Given the description of an element on the screen output the (x, y) to click on. 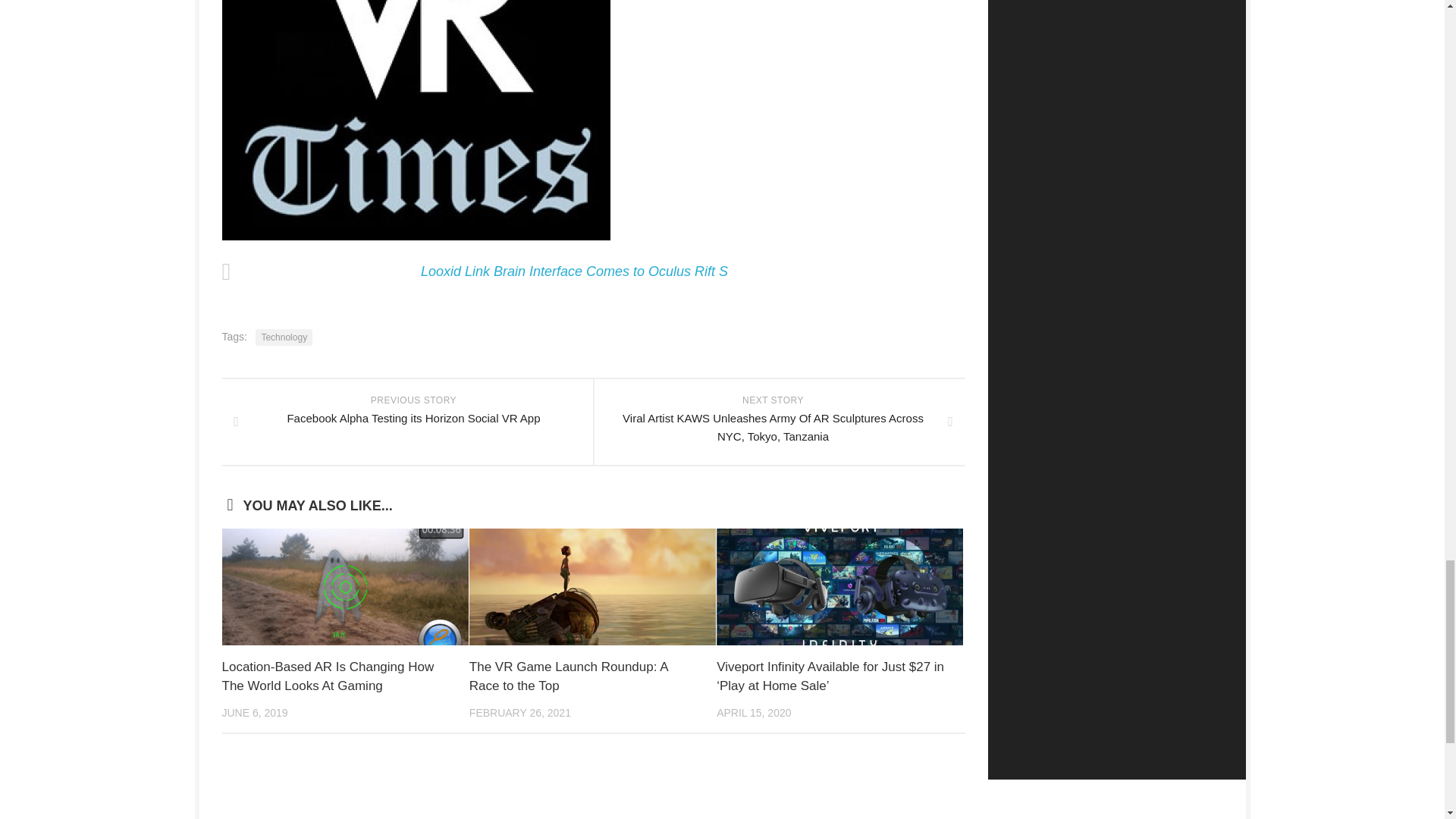
Looxid Link Brain Interface Comes to Oculus Rift S (574, 271)
Advertisement (721, 806)
Location-Based AR Is Changing How The World Looks At Gaming (327, 676)
Technology (284, 337)
The VR Game Launch Roundup: A Race to the Top (568, 676)
